Given the description of an element on the screen output the (x, y) to click on. 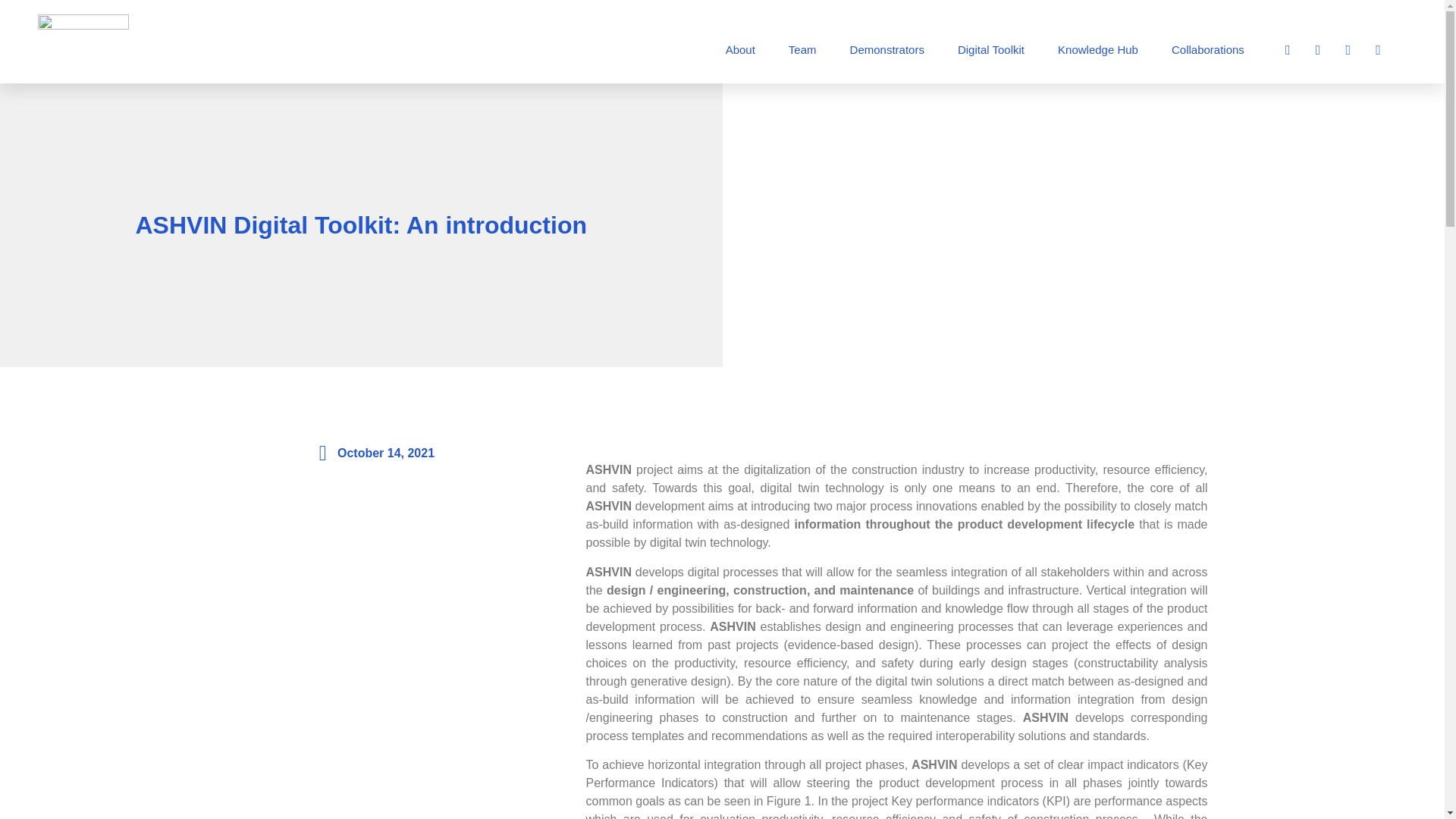
Demonstrators (886, 49)
Collaborations (1207, 49)
About (740, 49)
October 14, 2021 (373, 453)
Digital Toolkit (990, 49)
Knowledge Hub (1097, 49)
Team (802, 49)
